Given the description of an element on the screen output the (x, y) to click on. 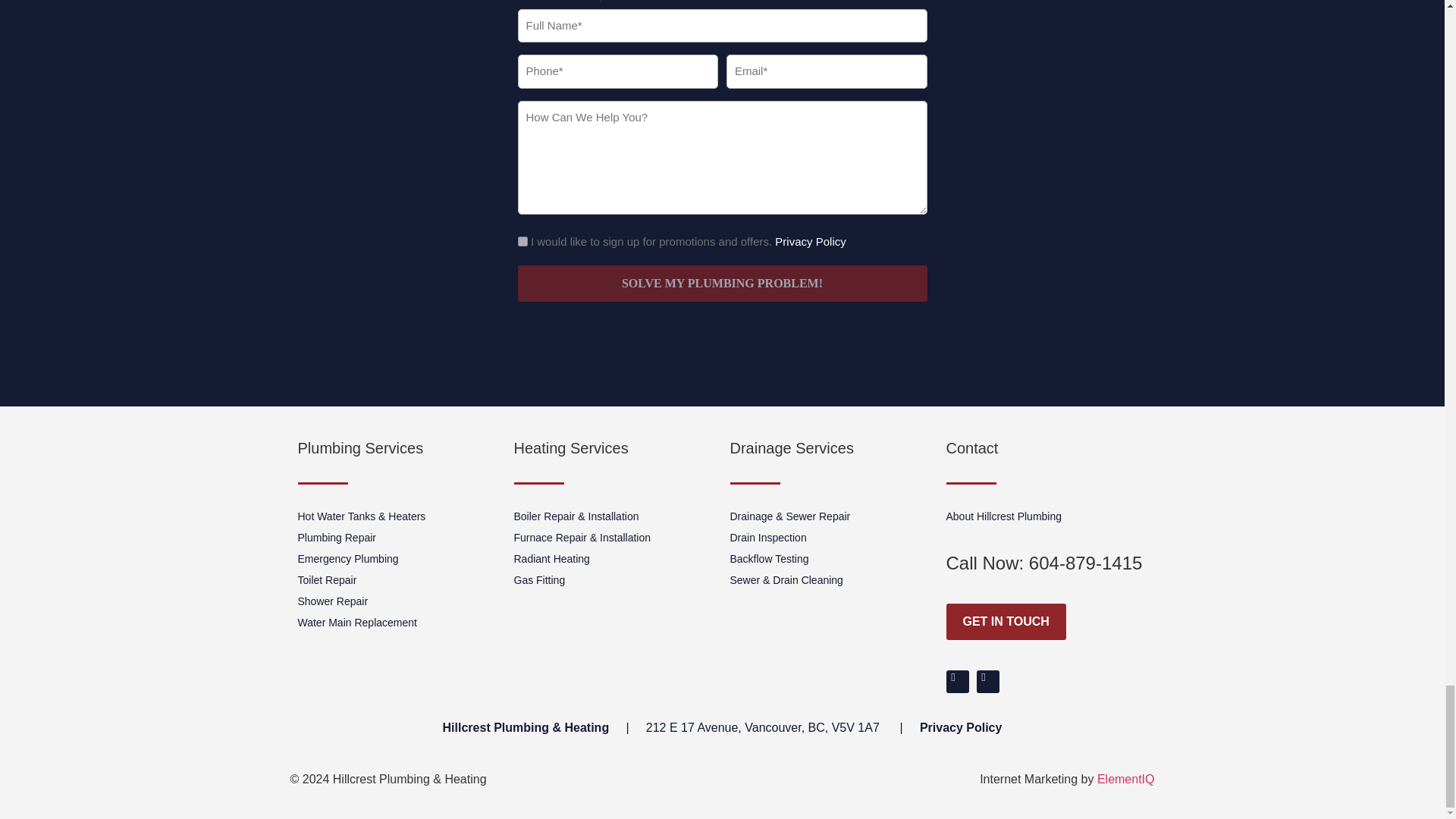
Solve My Plumbing Problem! (721, 283)
